Given the description of an element on the screen output the (x, y) to click on. 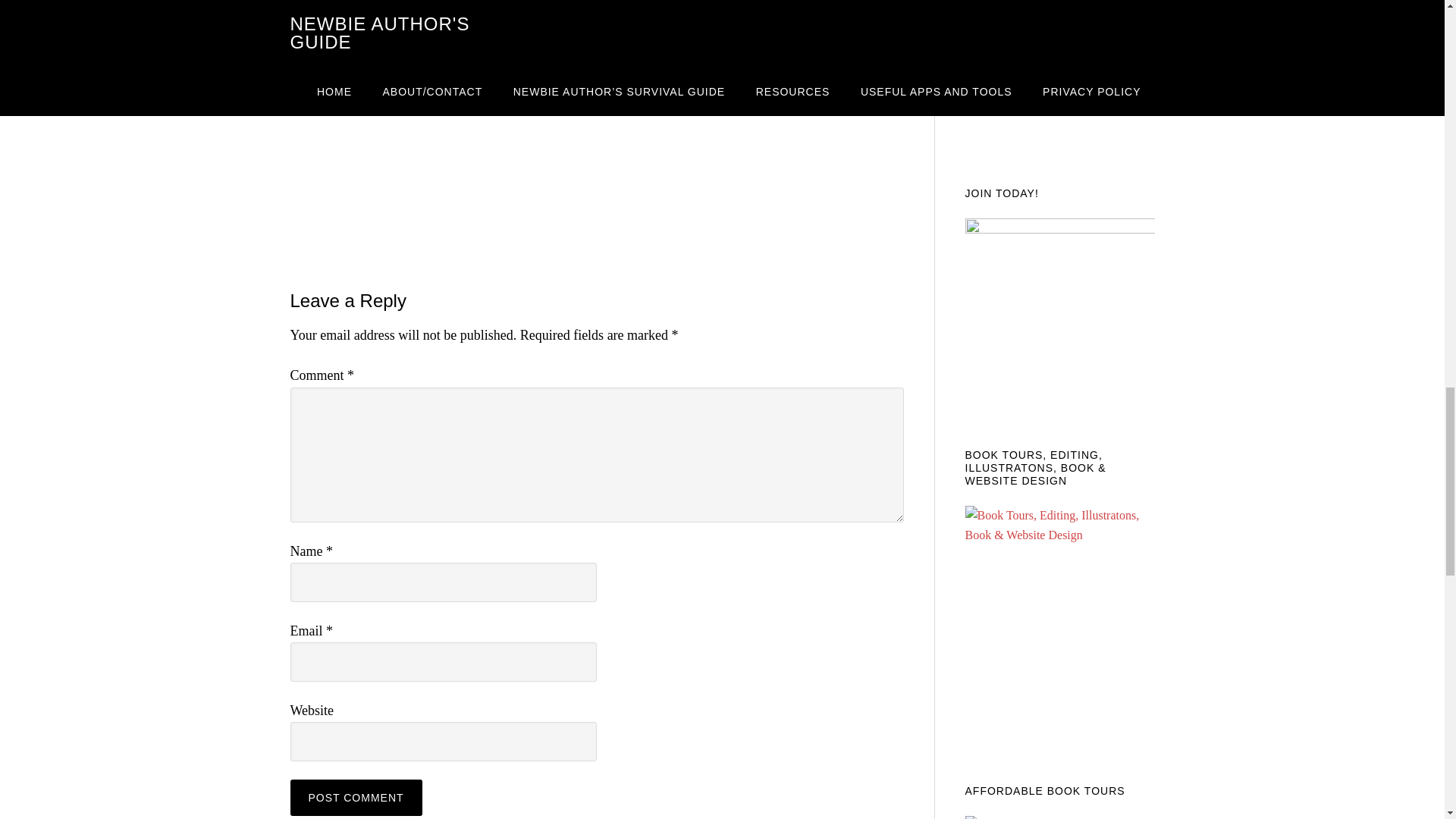
Post Comment (355, 797)
Post Comment (355, 797)
